Given the description of an element on the screen output the (x, y) to click on. 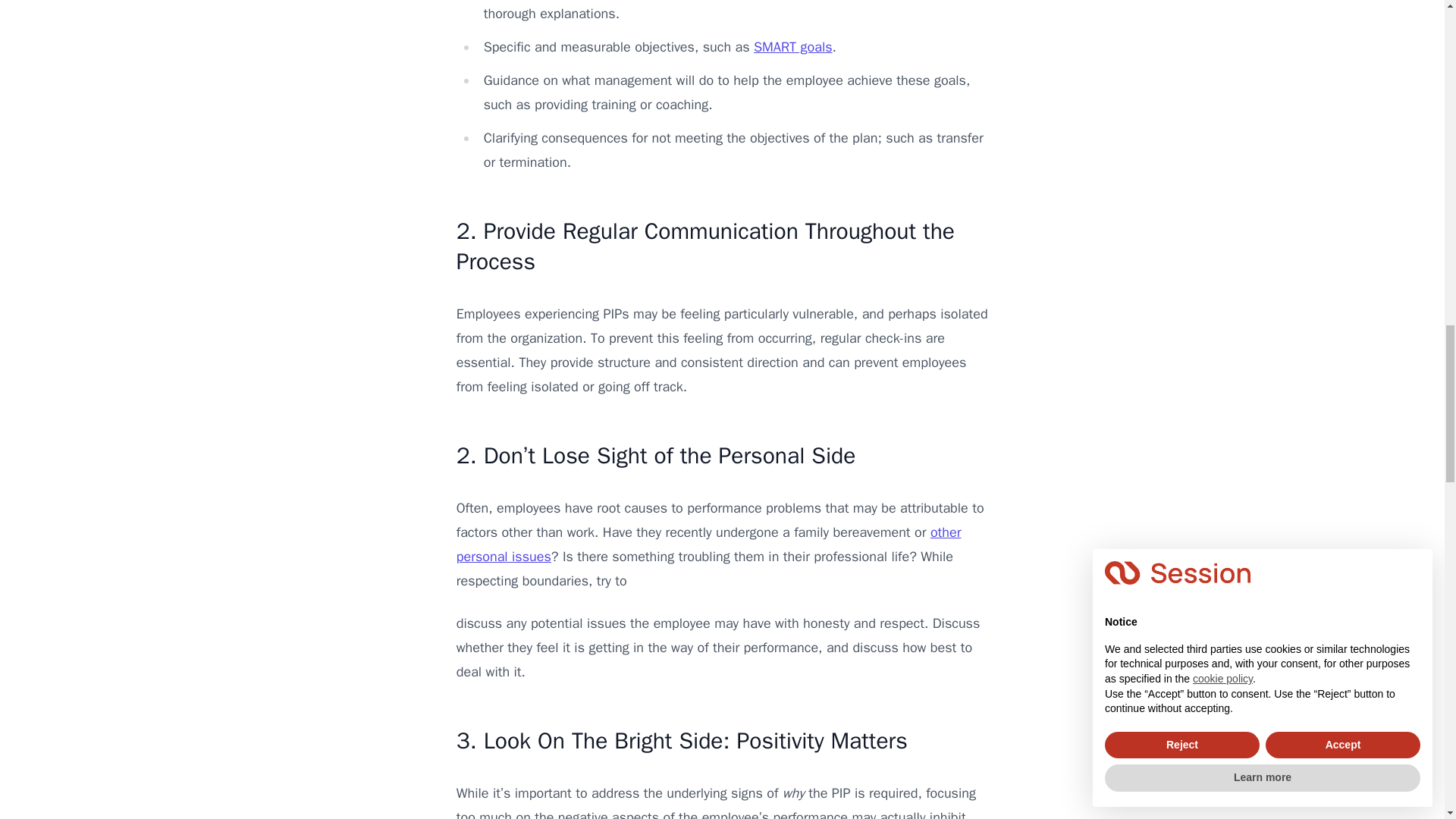
other personal issues (708, 544)
SMART goals (793, 46)
